Given the description of an element on the screen output the (x, y) to click on. 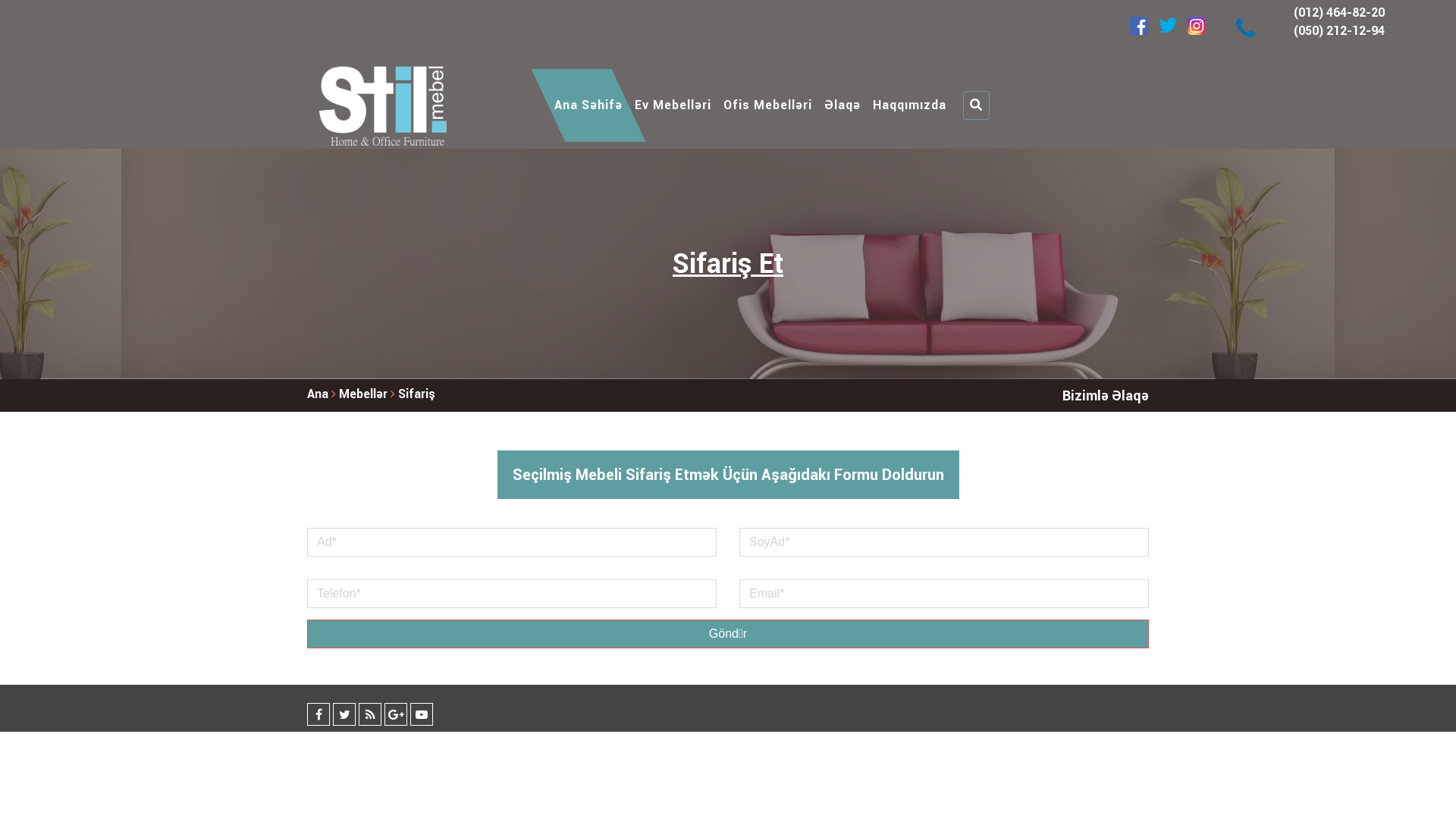
Ana Element type: text (317, 393)
